Given the description of an element on the screen output the (x, y) to click on. 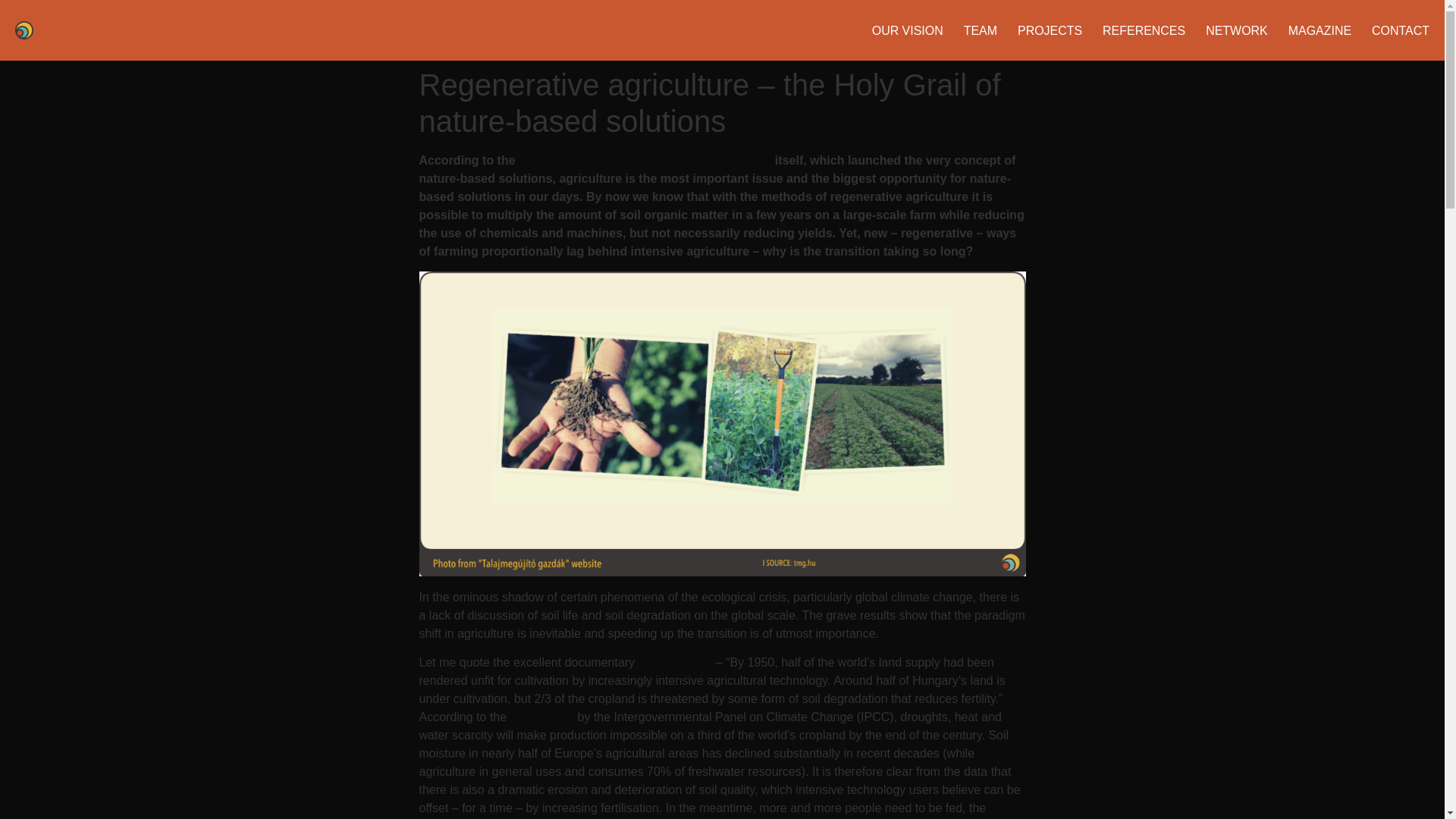
MAGAZINE (1319, 29)
TEAM (980, 29)
NETWORK (1236, 29)
PROJECTS (1049, 29)
latest report (542, 716)
CONTACT (1400, 29)
Poisoned Soil (676, 662)
OUR VISION (907, 29)
REFERENCES (1143, 29)
International Union for Nature Conservation (644, 160)
